Given the description of an element on the screen output the (x, y) to click on. 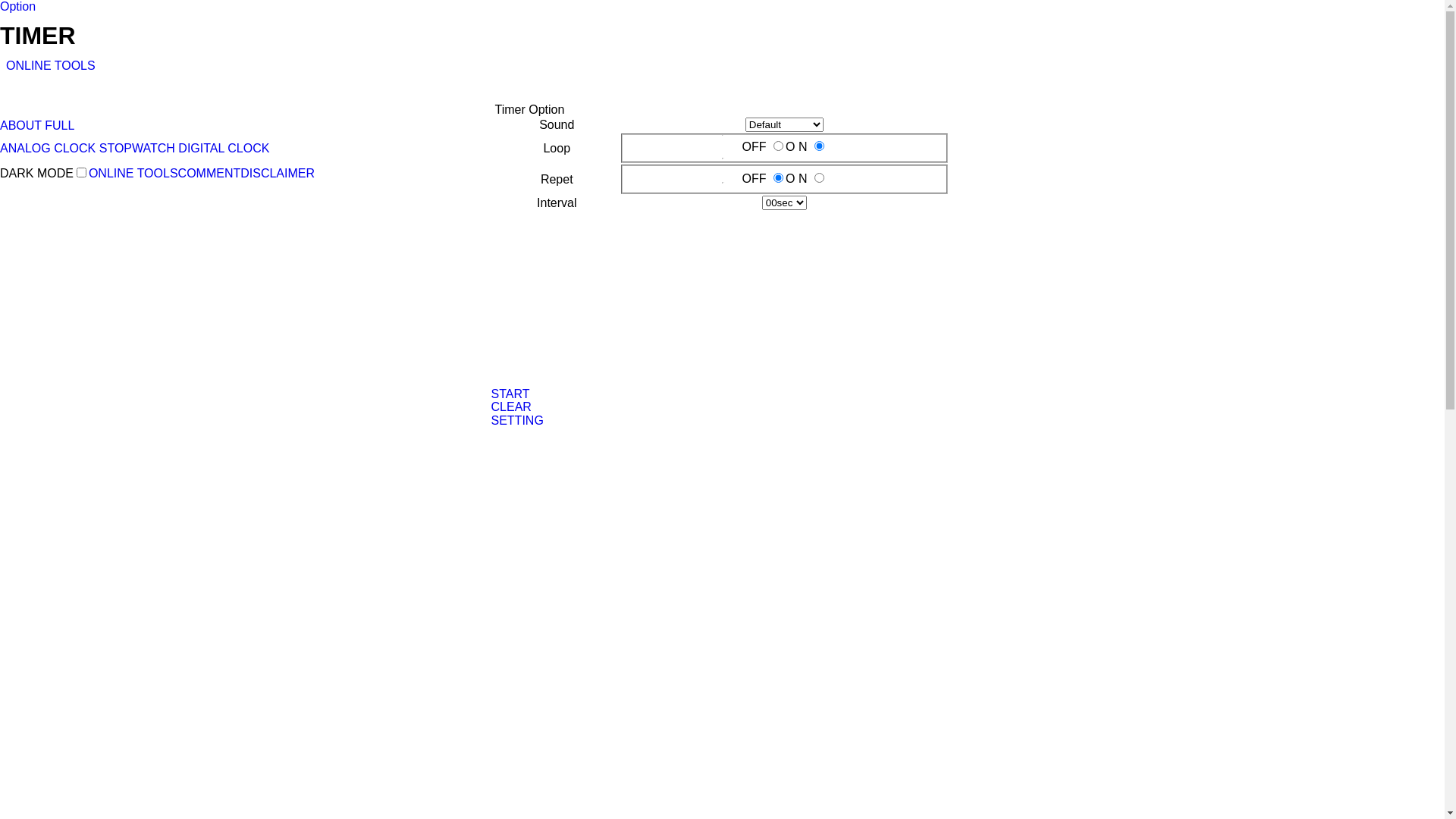
ABOUT Element type: text (20, 125)
ONLINE TOOLS Element type: text (50, 65)
START Element type: text (510, 393)
SETTING Element type: text (517, 420)
STOPWATCH Element type: text (137, 147)
DIGITAL CLOCK Element type: text (223, 147)
ONLINE TOOLS Element type: text (133, 172)
CLEAR Element type: text (511, 406)
DISCLAIMER Element type: text (277, 172)
FULL Element type: text (59, 125)
COMMENT Element type: text (209, 172)
ANALOG CLOCK Element type: text (47, 147)
Option Element type: text (17, 6)
